Given the description of an element on the screen output the (x, y) to click on. 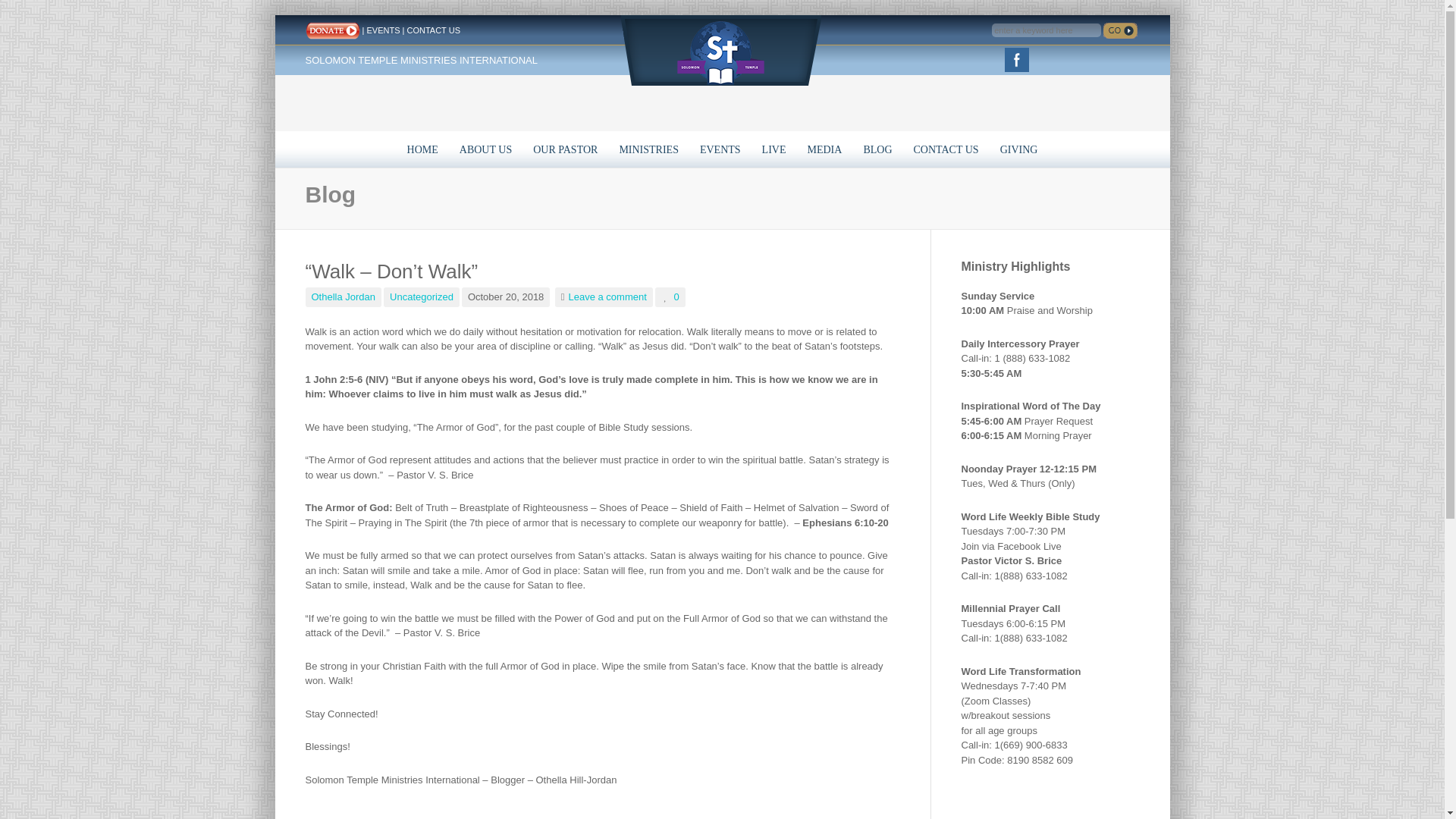
BLOG (876, 149)
GIVING (1019, 149)
EVENTS (382, 30)
MINISTRIES (648, 149)
HOME (422, 149)
CONTACT US (946, 149)
EVENTS (719, 149)
GO (1120, 30)
CONTACT US (433, 30)
MEDIA (823, 149)
